Given the description of an element on the screen output the (x, y) to click on. 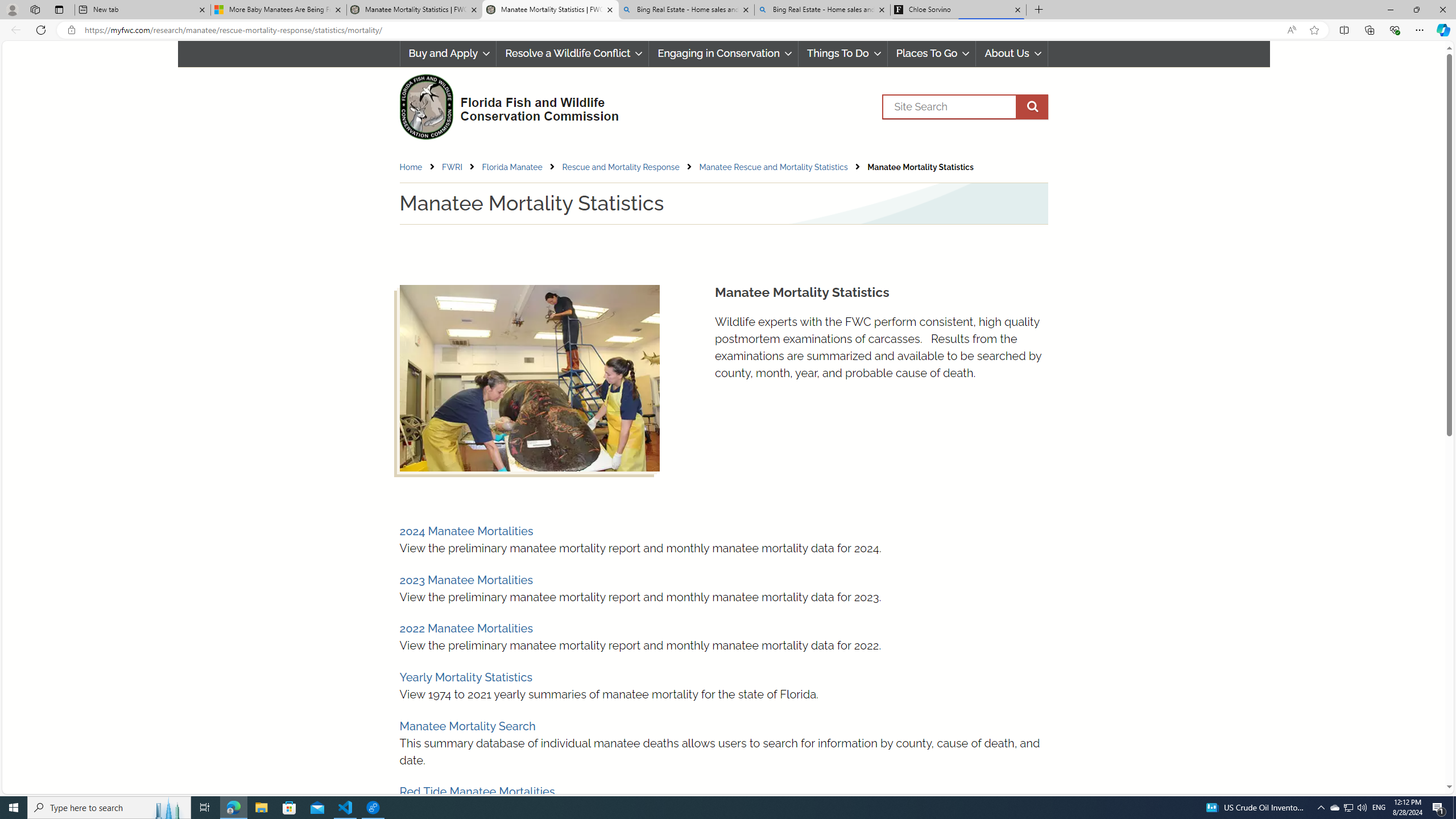
FWC Logo (425, 106)
Home (410, 166)
About Us (1011, 53)
Manatee Rescue and Mortality Statistics (772, 166)
Resolve a Wildlife Conflict (572, 53)
2022 Manatee Mortalities (465, 628)
Places To Go (931, 53)
2023 Manatee Mortalities (465, 579)
Yearly Mortality Statistics (465, 677)
Address and search bar (680, 29)
